Given the description of an element on the screen output the (x, y) to click on. 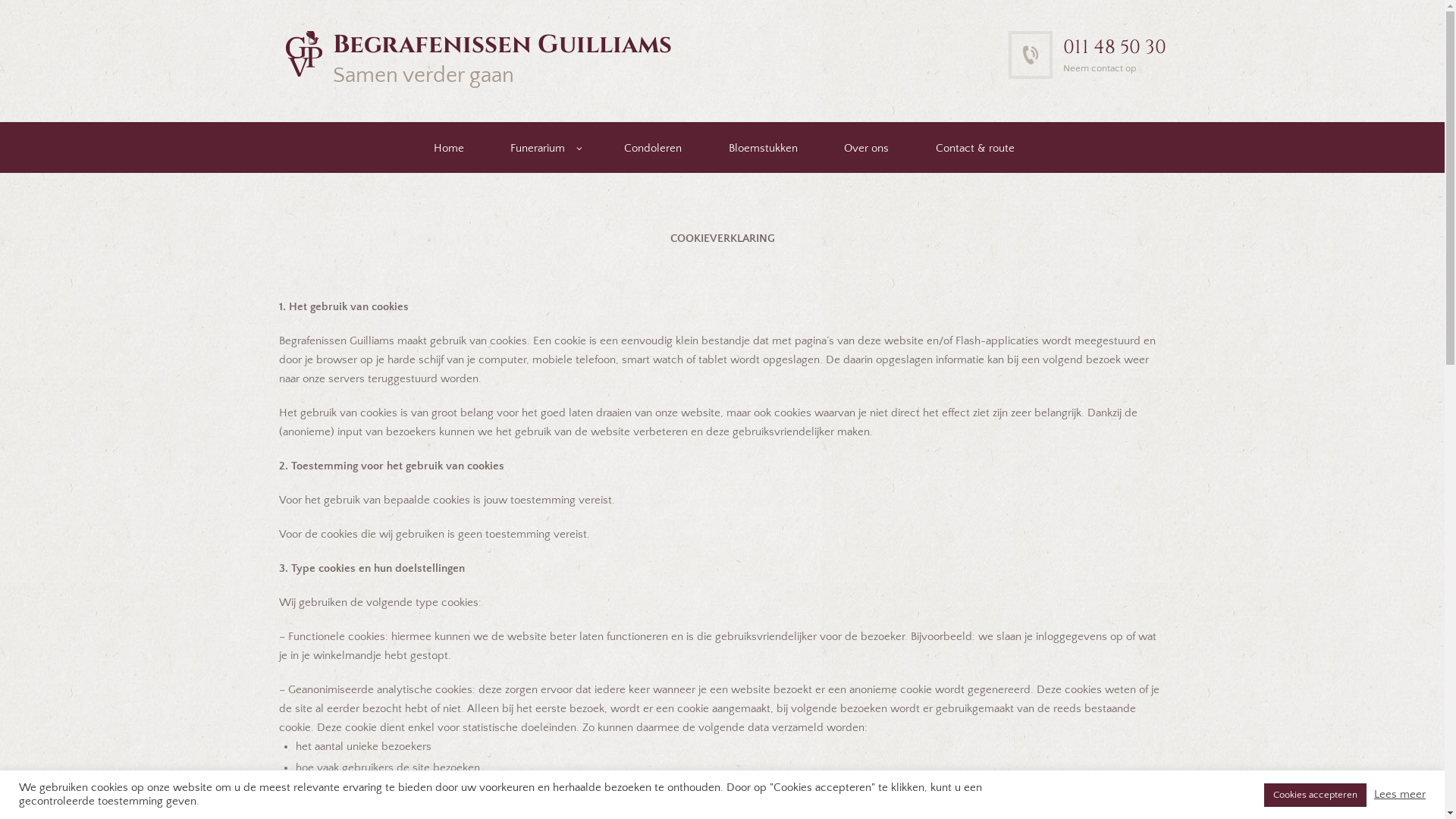
Begrafenissen Guilliams
Samen verder gaan Element type: text (498, 59)
Contact & route Element type: text (973, 147)
Cookies accepteren Element type: text (1315, 794)
Home Element type: text (447, 147)

                                             Element type: hover (303, 52)
Bloemstukken Element type: text (761, 147)
Funerarium Element type: text (535, 147)
Over ons Element type: text (864, 147)
Lees meer Element type: text (1399, 794)
Condoleren Element type: text (651, 147)
